Given the description of an element on the screen output the (x, y) to click on. 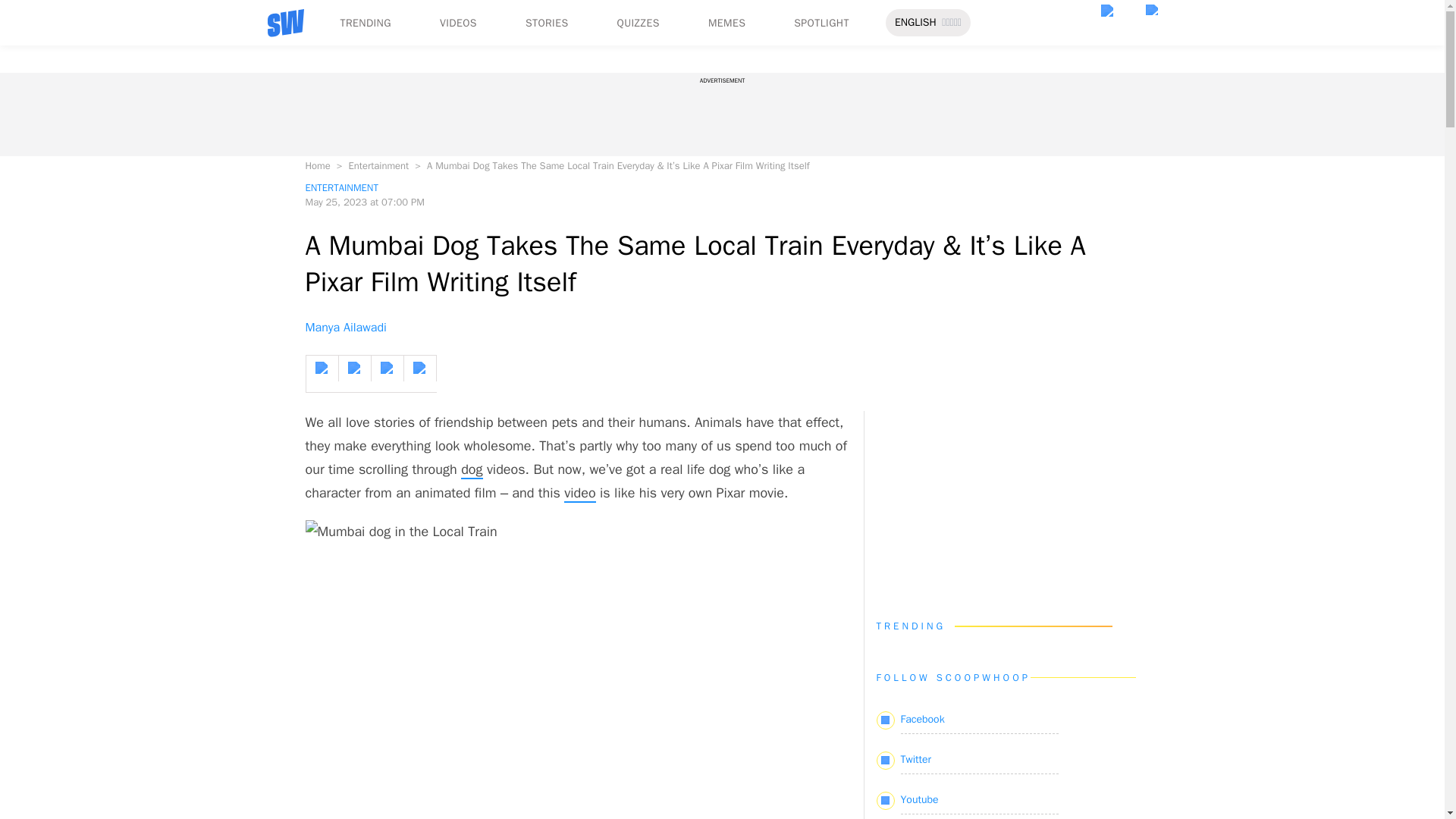
SPOTLIGHT (820, 22)
VIDEOS (458, 22)
STORIES (547, 22)
MEMES (726, 22)
ENGLISH (915, 22)
TRENDING (364, 22)
QUIZZES (638, 22)
